Given the description of an element on the screen output the (x, y) to click on. 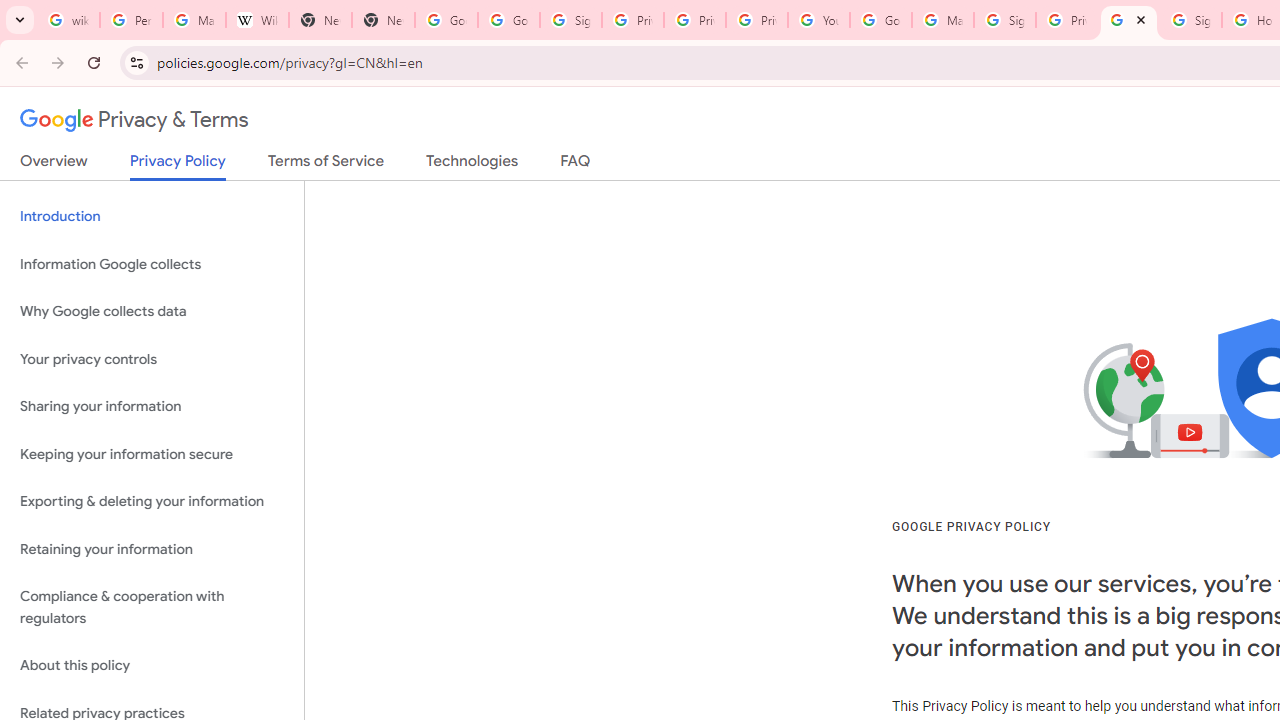
Sign in - Google Accounts (1190, 20)
New Tab (383, 20)
